Given the description of an element on the screen output the (x, y) to click on. 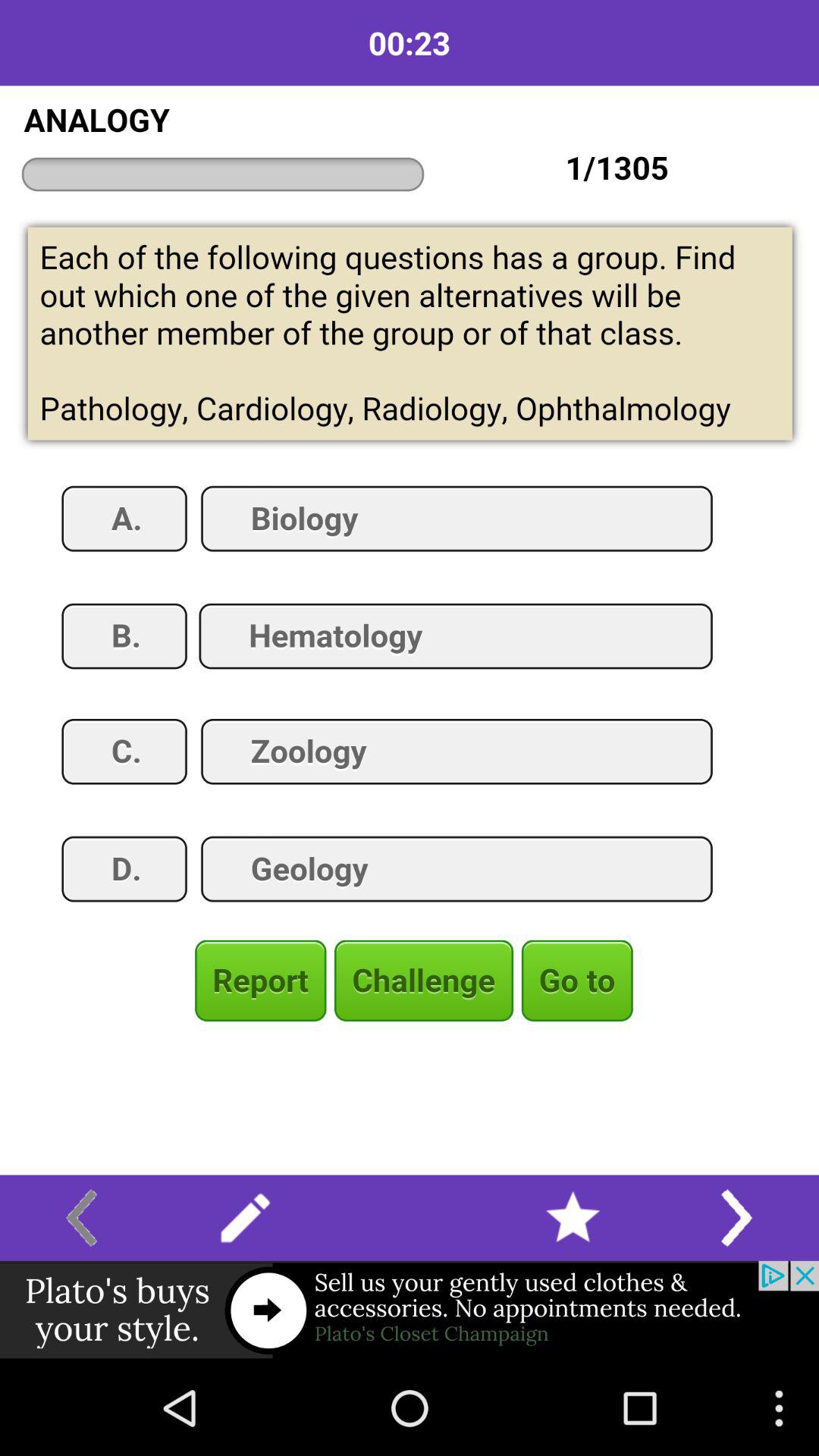
favorite (572, 1217)
